Given the description of an element on the screen output the (x, y) to click on. 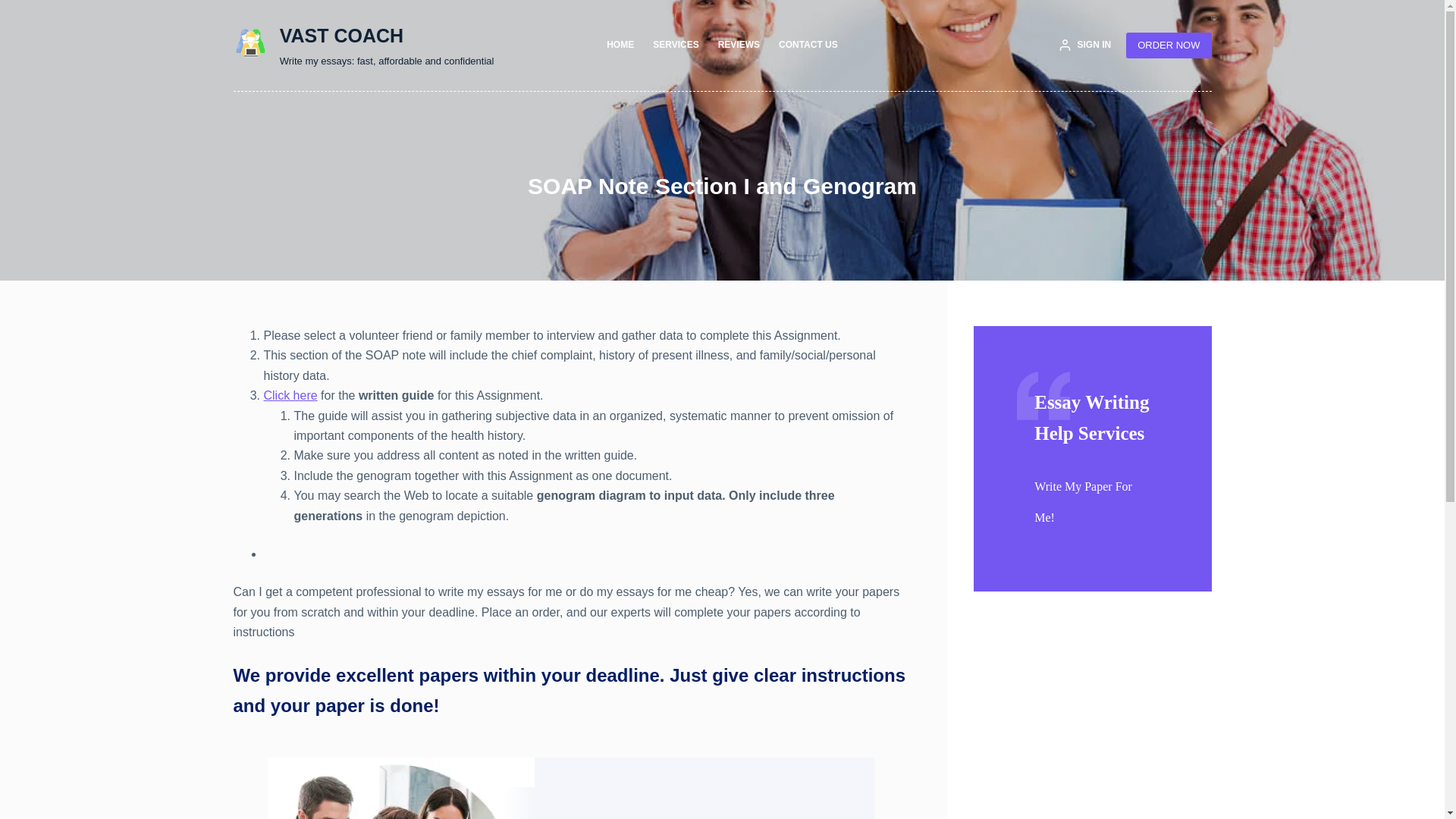
Click here (290, 395)
SOAP Note Section I and Genogram (722, 185)
ORDER NOW (1168, 45)
VAST COACH (341, 35)
SIGN IN (1084, 45)
Skip to content (15, 7)
